Given the description of an element on the screen output the (x, y) to click on. 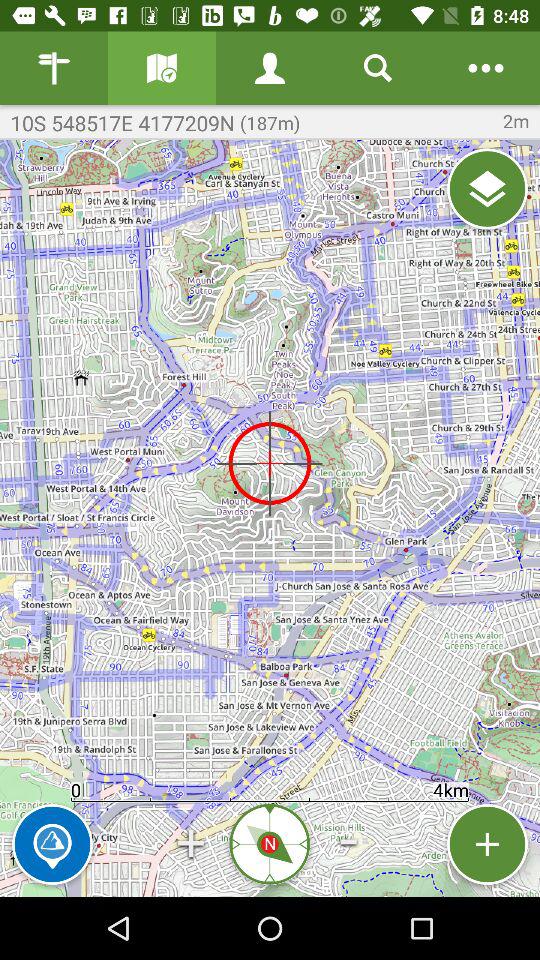
turn off the item at the bottom left corner (52, 843)
